Given the description of an element on the screen output the (x, y) to click on. 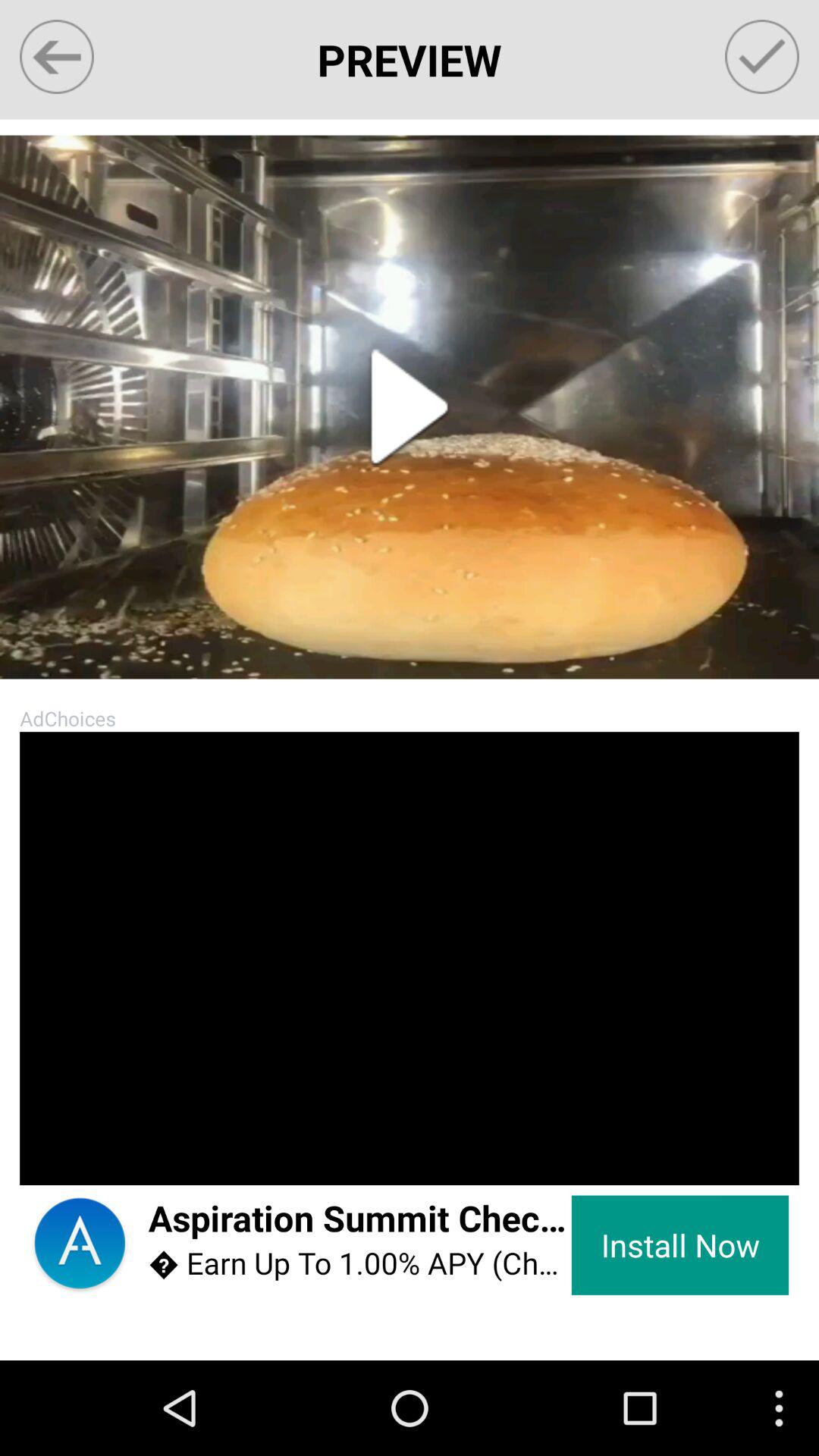
turn on app next to aspiration summit checking item (79, 1245)
